Given the description of an element on the screen output the (x, y) to click on. 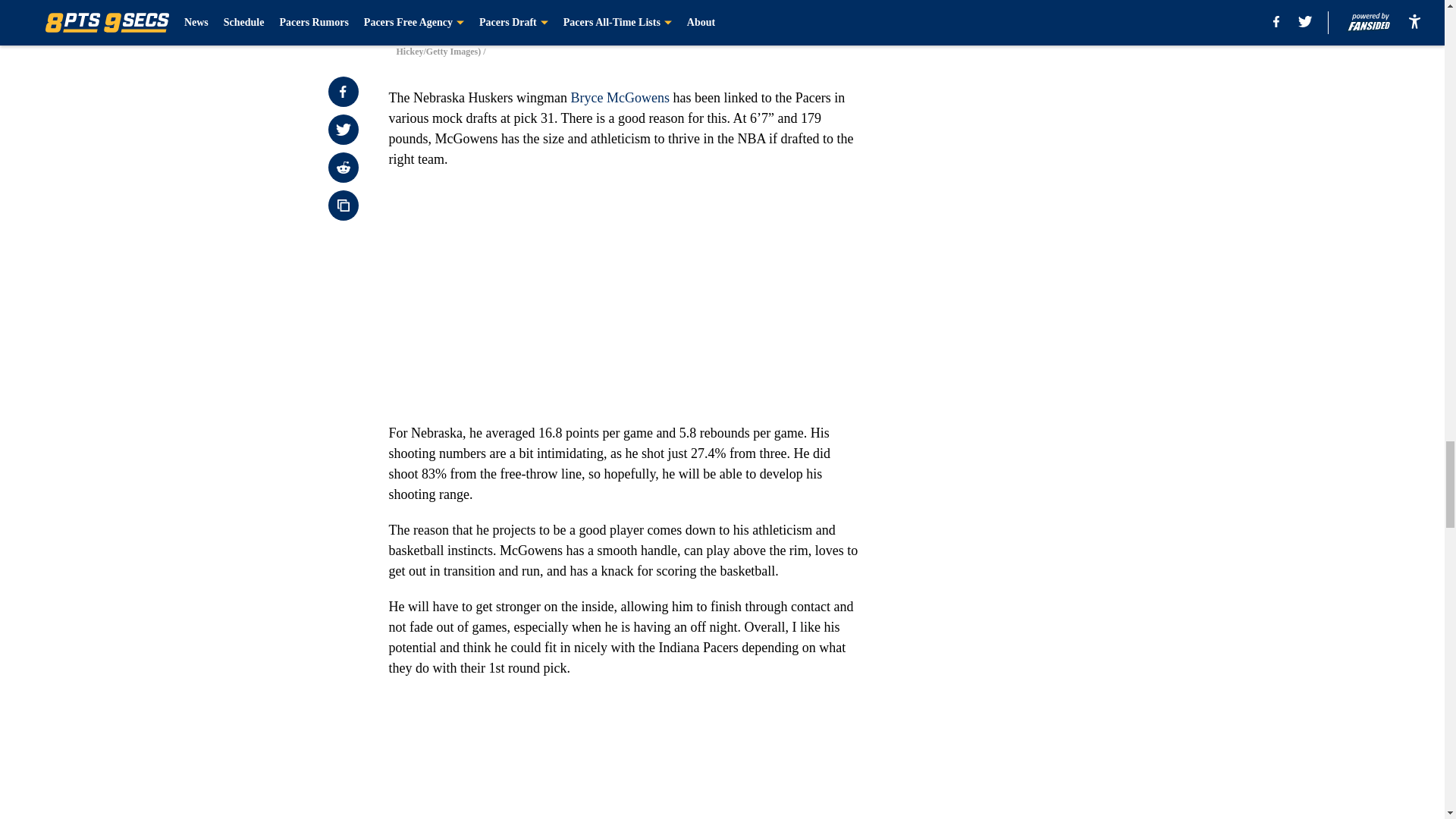
Bryce McGowens (619, 96)
